Given the description of an element on the screen output the (x, y) to click on. 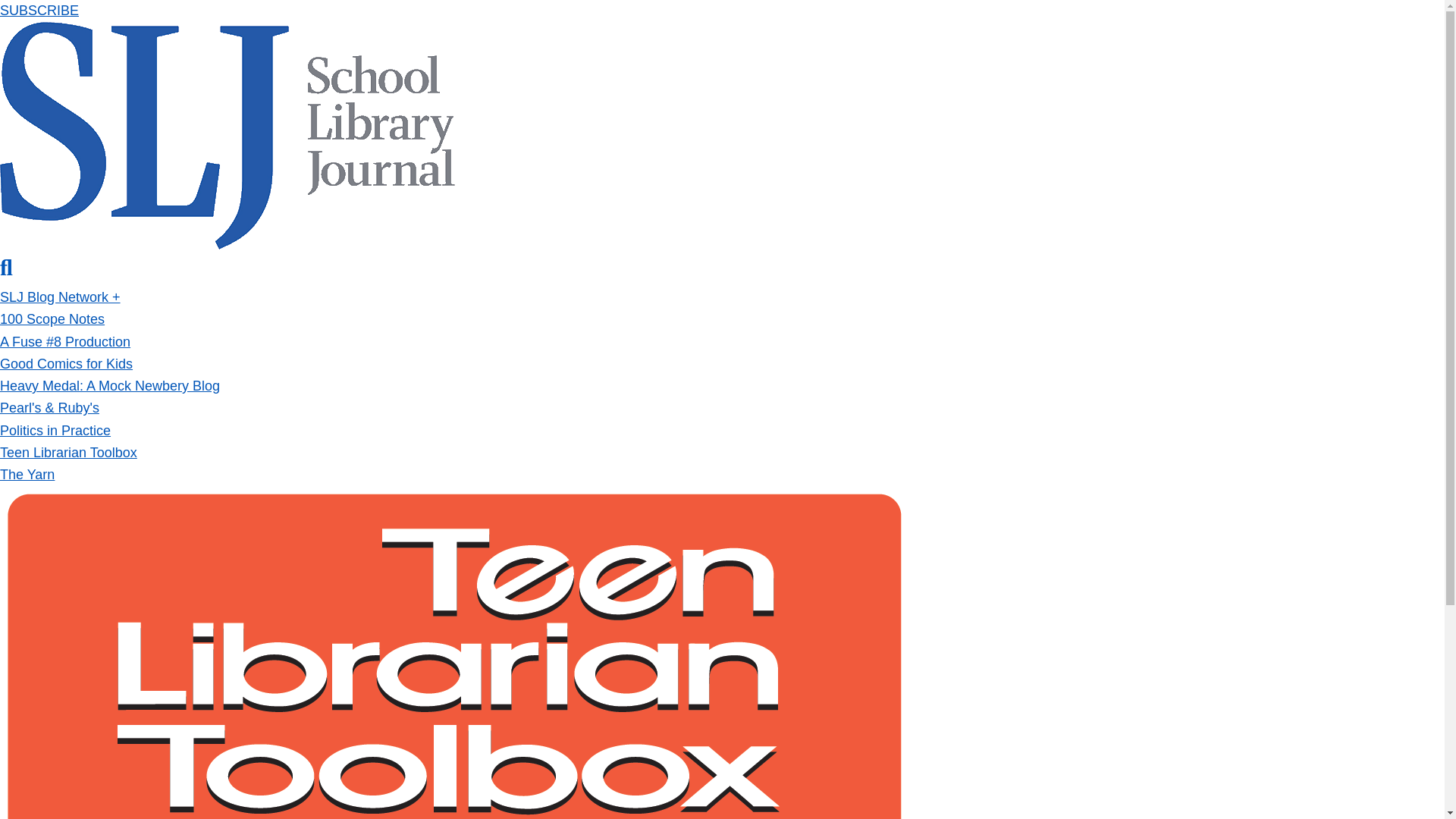
Politics in Practice (55, 430)
The Yarn (27, 474)
SUBSCRIBE (39, 10)
Heavy Medal: A Mock Newbery Blog (109, 385)
Teen Librarian Toolbox (68, 452)
100 Scope Notes (52, 319)
Good Comics for Kids (66, 363)
